Given the description of an element on the screen output the (x, y) to click on. 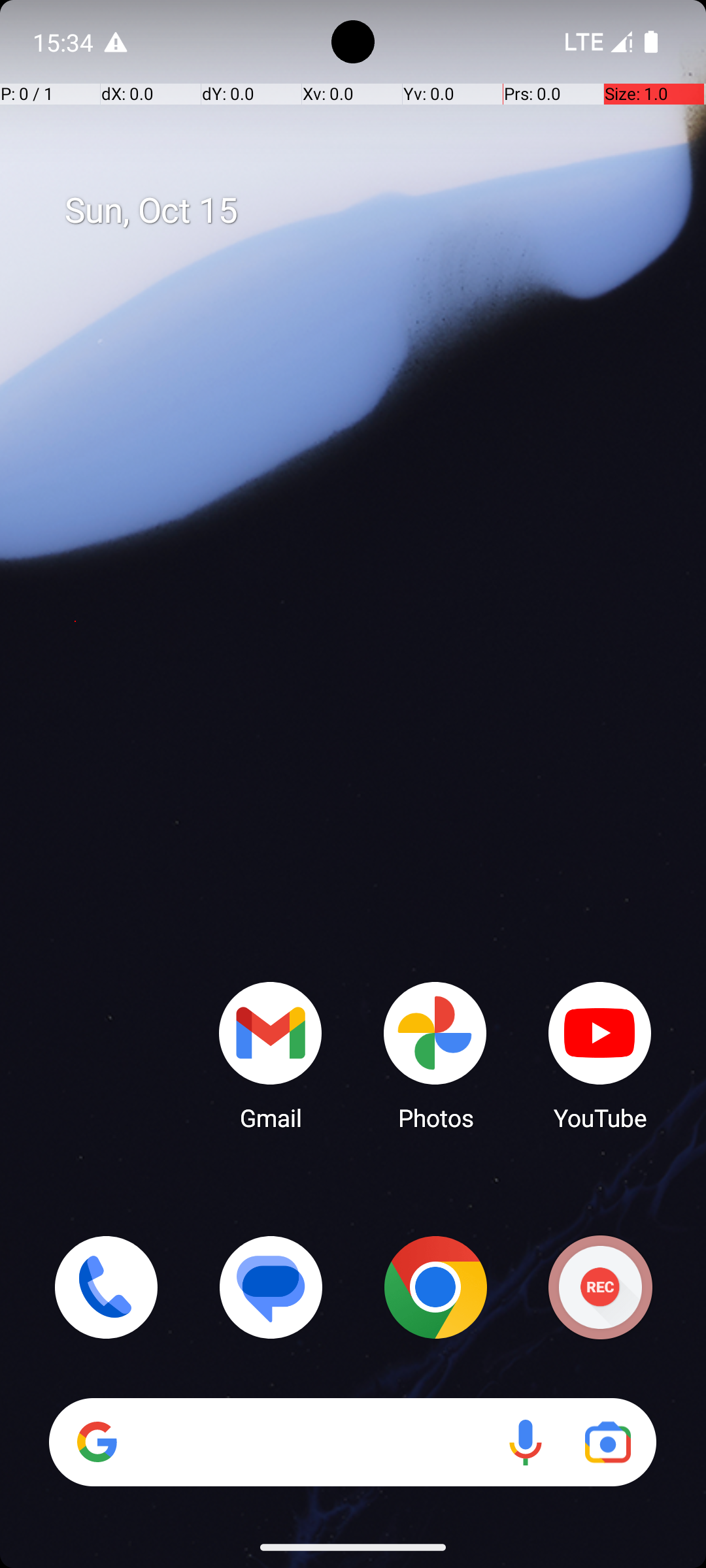
Sun, Oct 15 Element type: android.widget.TextView (366, 210)
